Given the description of an element on the screen output the (x, y) to click on. 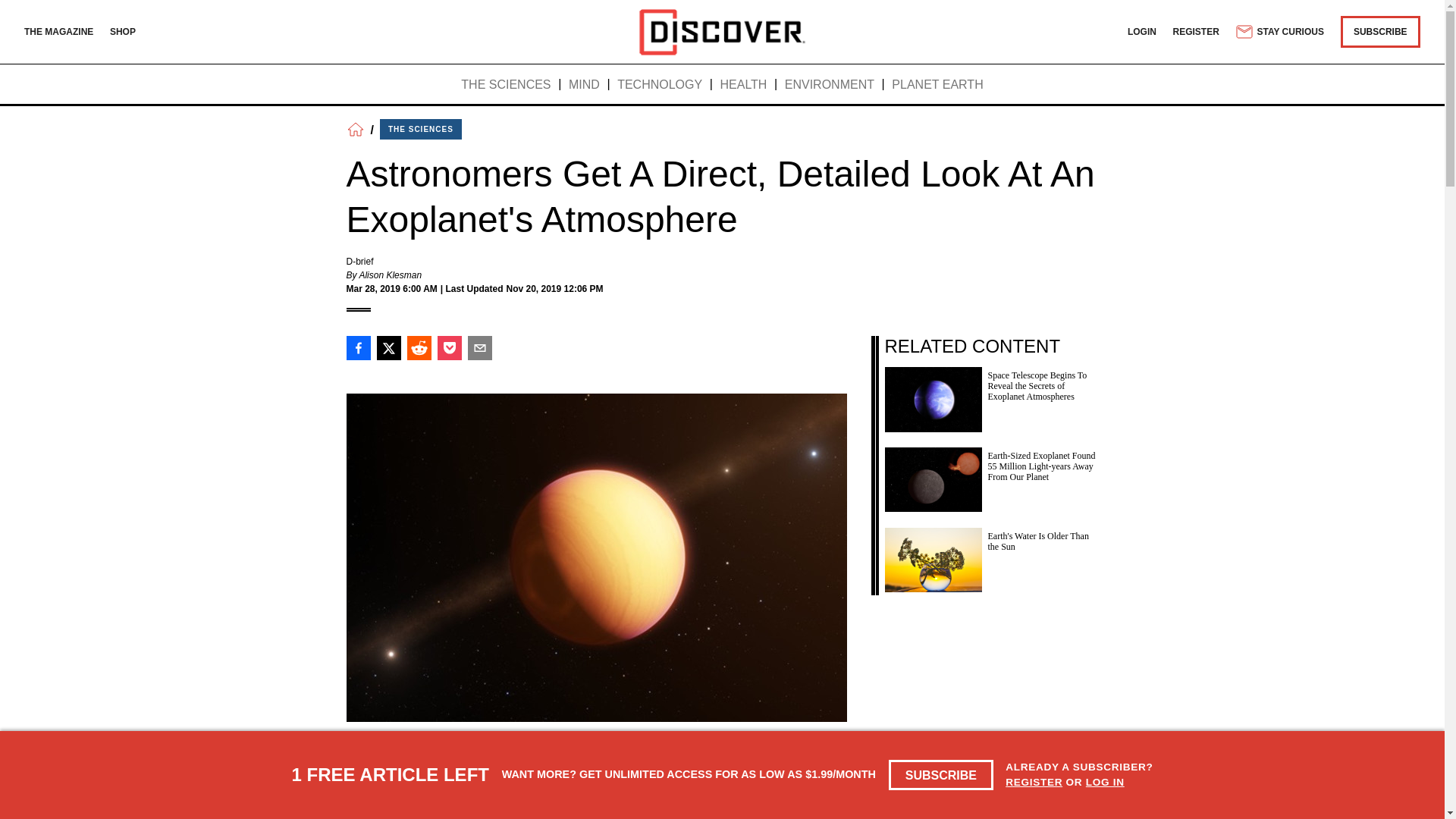
Alison Klesman (390, 275)
STAY CURIOUS (1278, 31)
REGISTER (1034, 781)
HEALTH (743, 84)
MIND (584, 84)
SIGN UP (811, 788)
REGISTER (1196, 31)
TECHNOLOGY (659, 84)
THE SCIENCES (505, 84)
LOG IN (1105, 781)
